Given the description of an element on the screen output the (x, y) to click on. 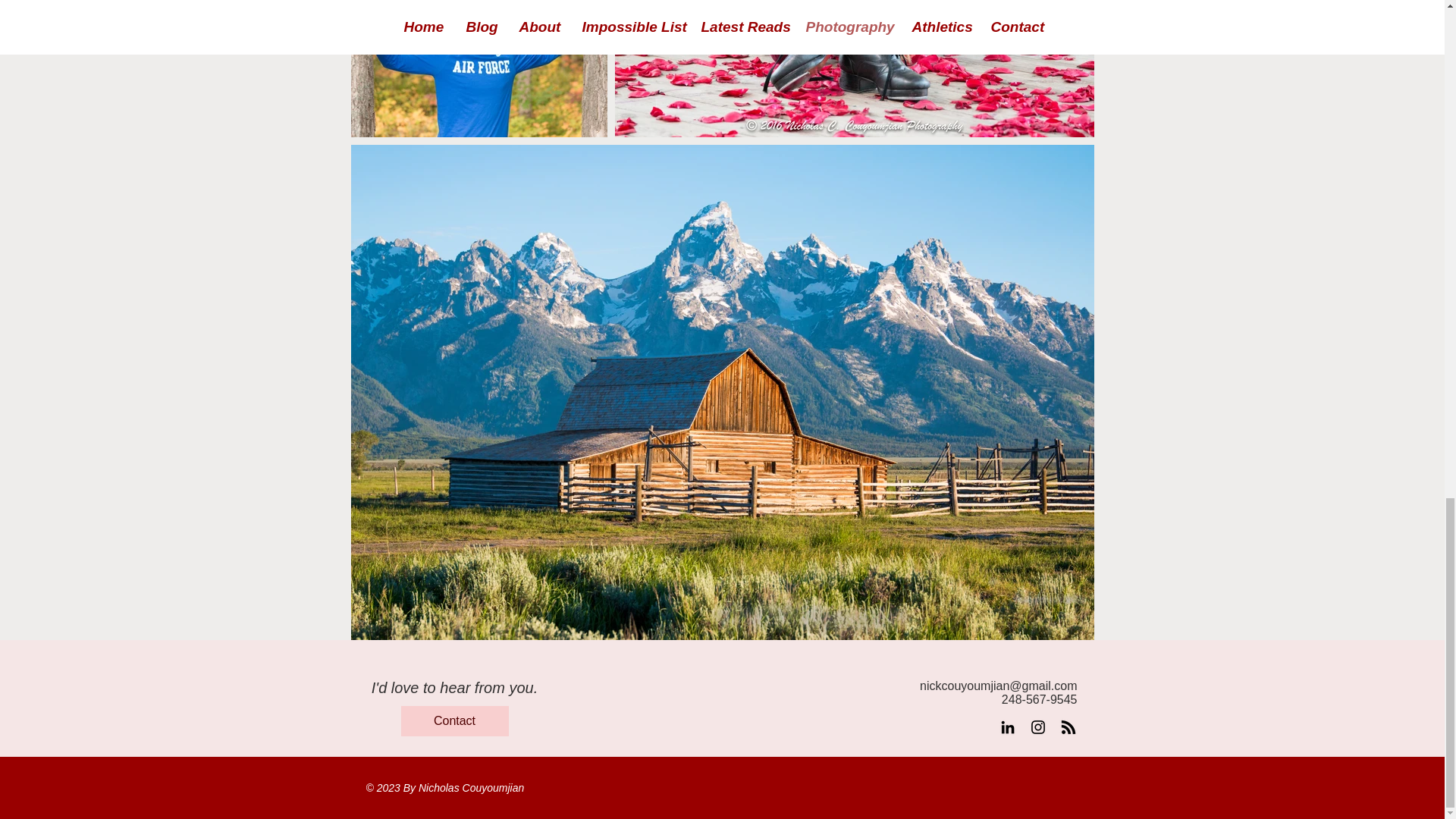
Contact (454, 720)
